Given the description of an element on the screen output the (x, y) to click on. 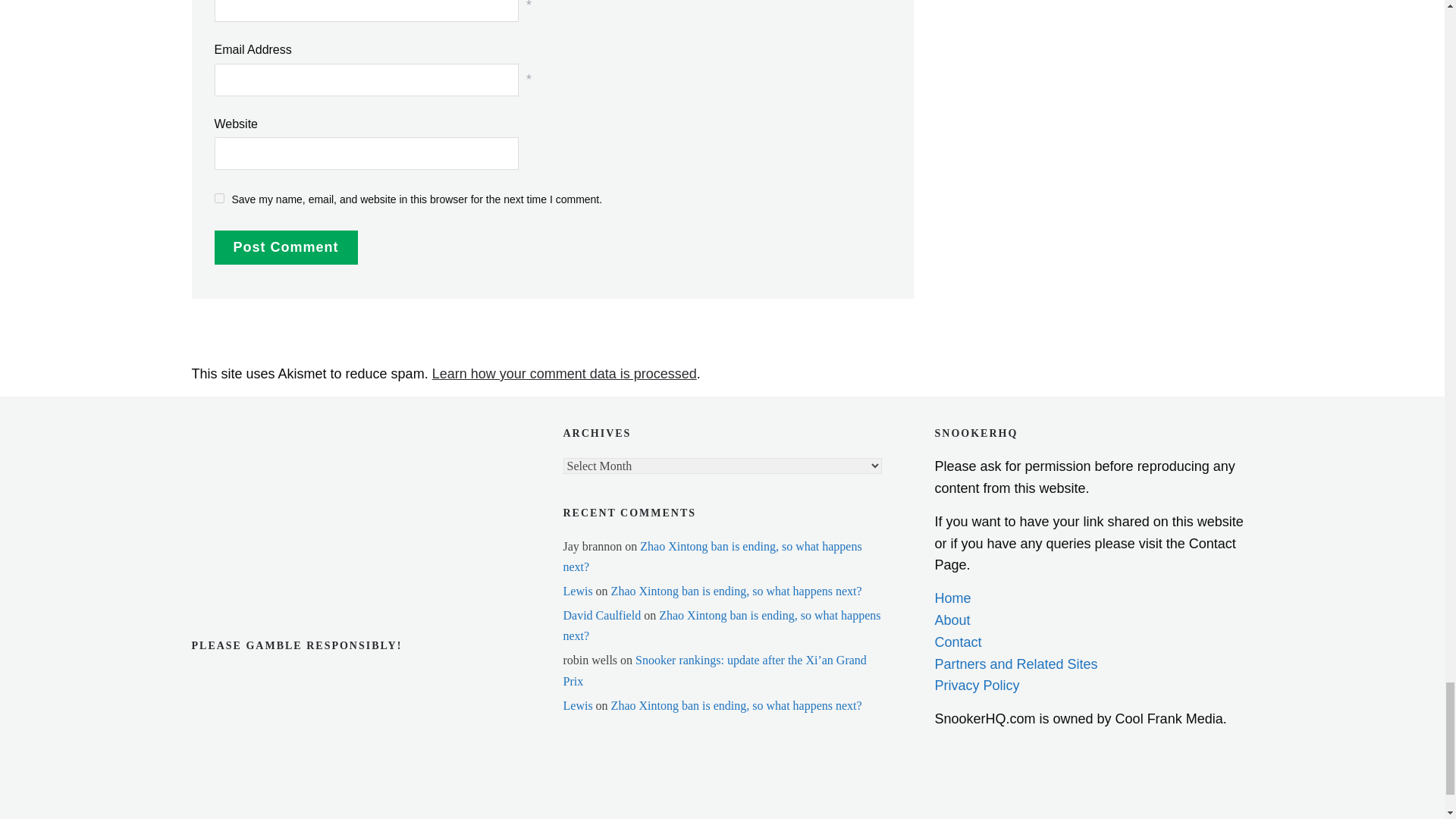
ngc-uk-betting-sites-not-on-gamstop (266, 436)
nongamstopbets-sports-betting (266, 481)
non-gamstop-betting-sites (266, 527)
yes (219, 198)
Post Comment (285, 247)
